Given the description of an element on the screen output the (x, y) to click on. 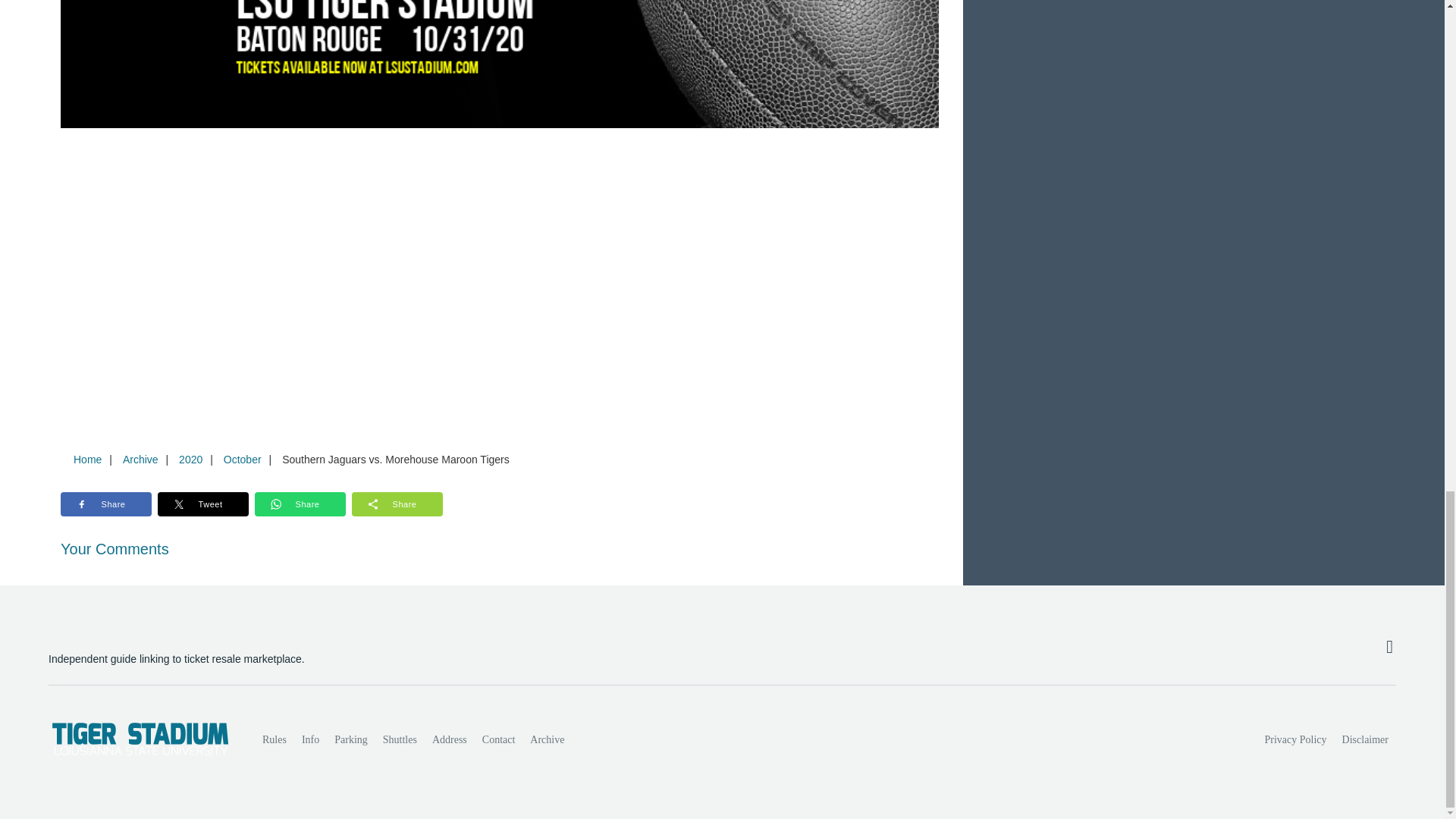
Address (449, 739)
Privacy Policy (1296, 739)
Archive (547, 739)
Rules (274, 739)
Home (87, 459)
Shuttles (400, 739)
Archive (140, 459)
Disclaimer (1365, 739)
2020 (190, 459)
Info (310, 739)
October (242, 459)
Parking (350, 739)
Contact (498, 739)
